Given the description of an element on the screen output the (x, y) to click on. 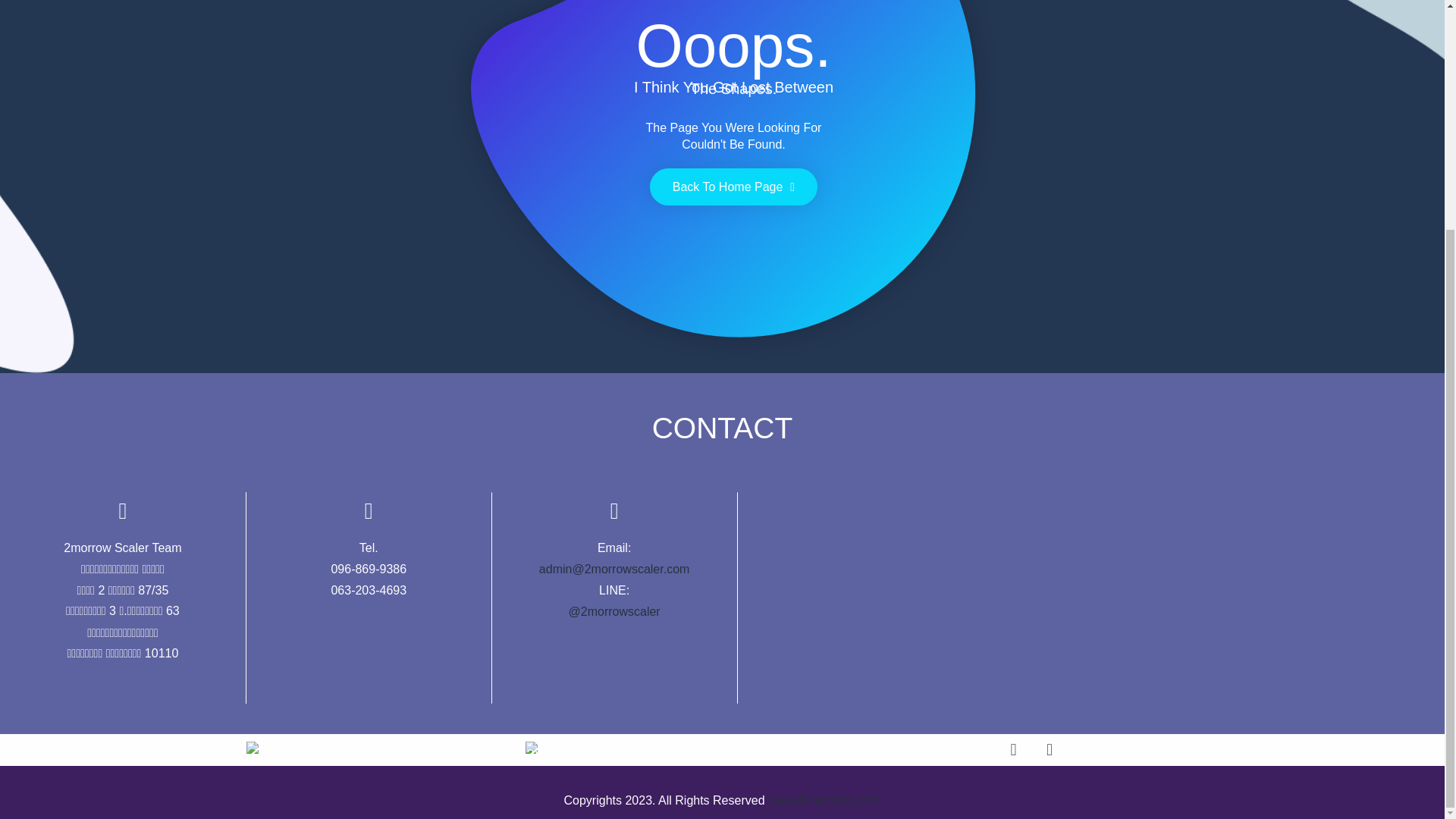
Back To Home Page (732, 186)
